Given the description of an element on the screen output the (x, y) to click on. 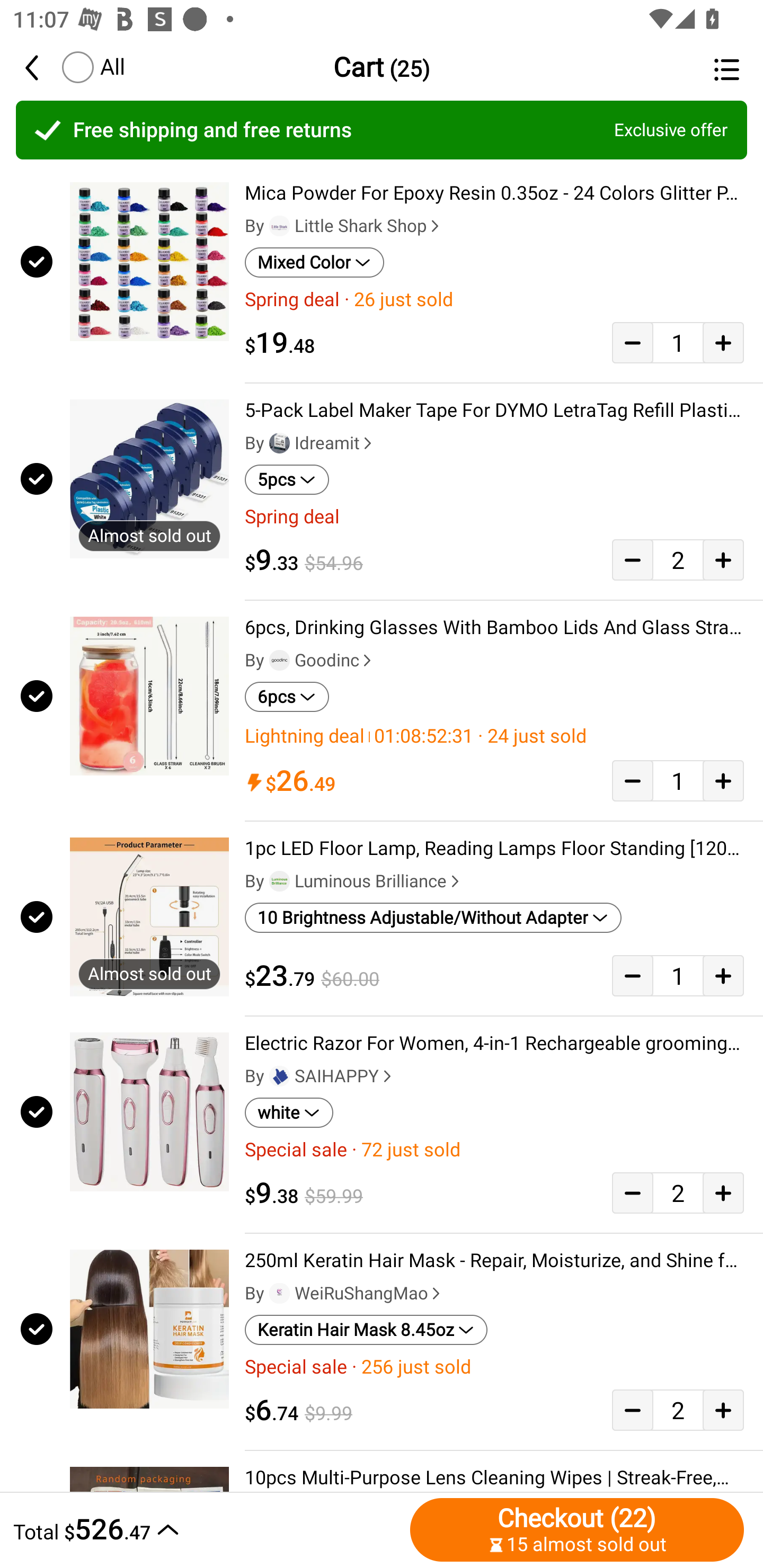
back (41, 67)
Select all tick button All (92, 67)
Free shipping and free returns Exclusive offer (381, 129)
Product checkbox checked (35, 260)
By Little Shark Shop (343, 226)
Mixed Color (313, 262)
Decrease quantity button (632, 342)
1 (677, 342)
Add quantity button (722, 342)
Product checkbox checked (35, 478)
By Idreamit (309, 442)
5pcs (286, 479)
Decrease quantity button (632, 559)
2 (677, 559)
Add quantity button (722, 559)
Product checkbox checked (35, 696)
By Goodinc (309, 660)
6pcs (286, 696)
Decrease quantity button (632, 780)
1 (677, 780)
Add quantity button (722, 780)
Product checkbox checked (35, 916)
By Luminous Brilliance (353, 881)
10 Brightness Adjustable/Without Adapter (432, 917)
Decrease quantity button (632, 974)
1 (677, 974)
Add quantity button (722, 974)
Product checkbox checked (35, 1112)
By SAIHAPPY (319, 1076)
white (288, 1112)
Decrease quantity button (632, 1192)
2 (677, 1192)
Add quantity button (722, 1192)
Product checkbox checked (35, 1328)
By WeiRuShangMao (344, 1292)
Keratin Hair Mask 8.45oz (365, 1330)
Special sale · 256 just sold (493, 1367)
Decrease quantity button (632, 1409)
2 (677, 1409)
Add quantity button (722, 1409)
Total $526.47 (206, 1529)
Checkout Checkout (22) ￼15 almost sold out (576, 1529)
